Given the description of an element on the screen output the (x, y) to click on. 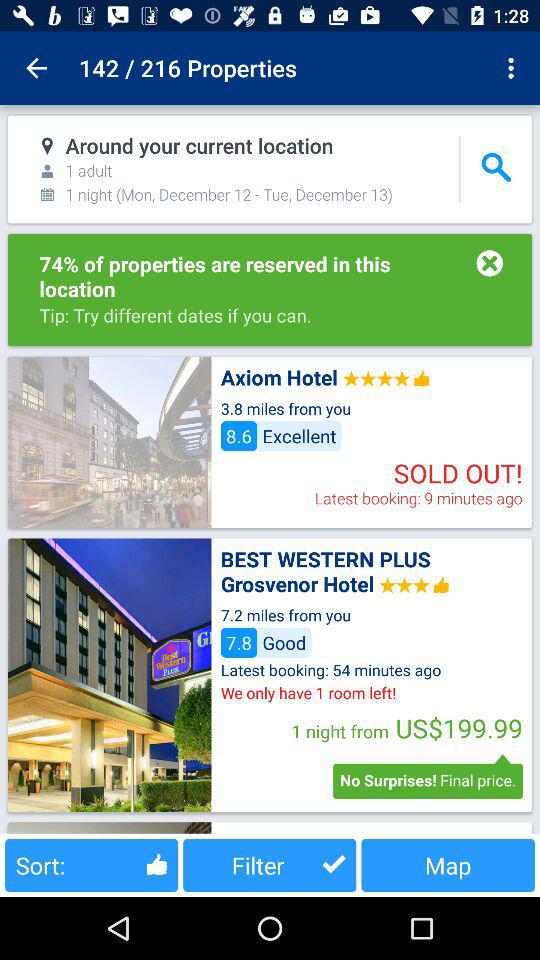
launch item next to the 142 / 216 properties item (513, 67)
